Given the description of an element on the screen output the (x, y) to click on. 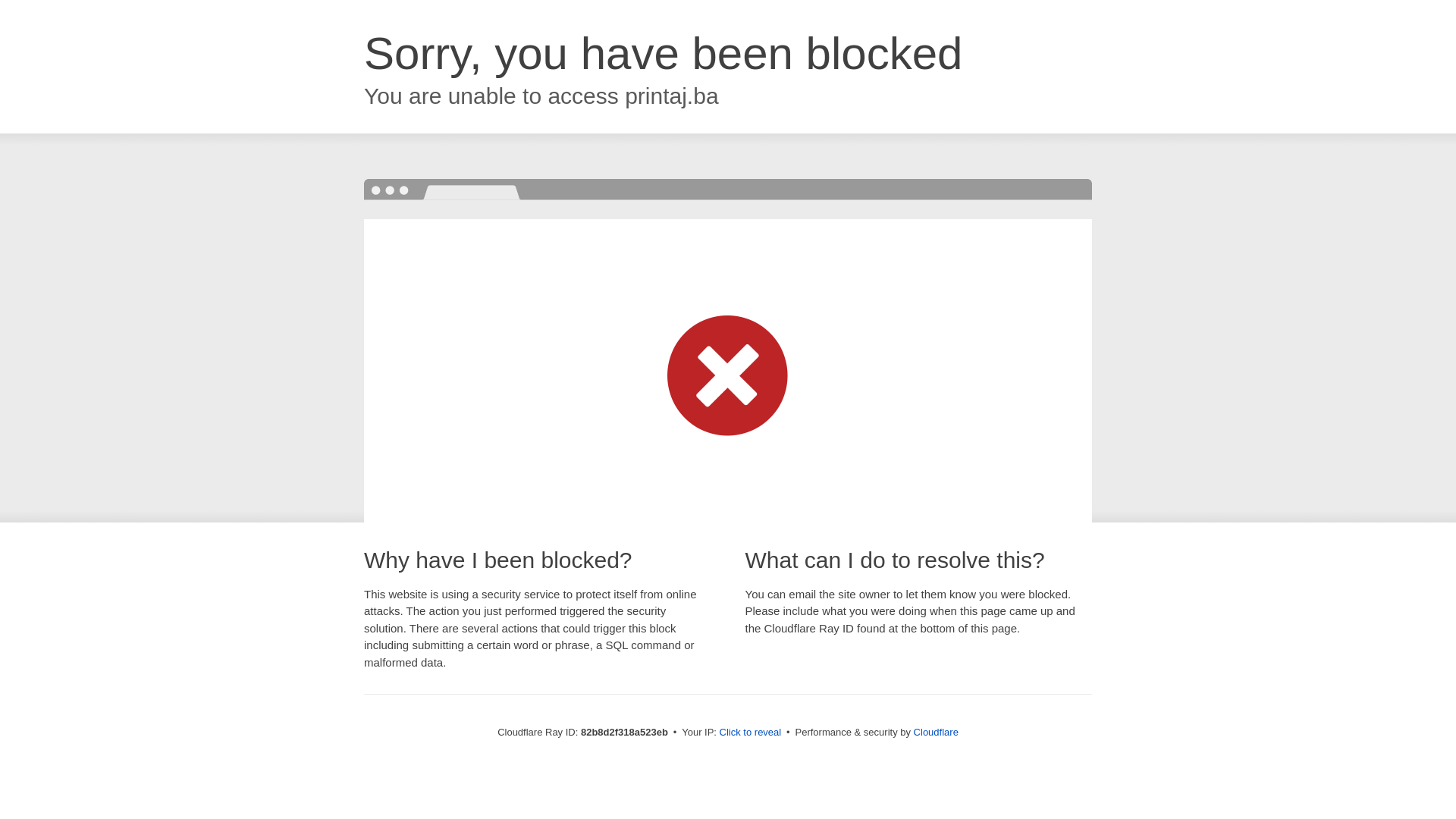
Click to reveal Element type: text (750, 732)
Cloudflare Element type: text (935, 731)
